Given the description of an element on the screen output the (x, y) to click on. 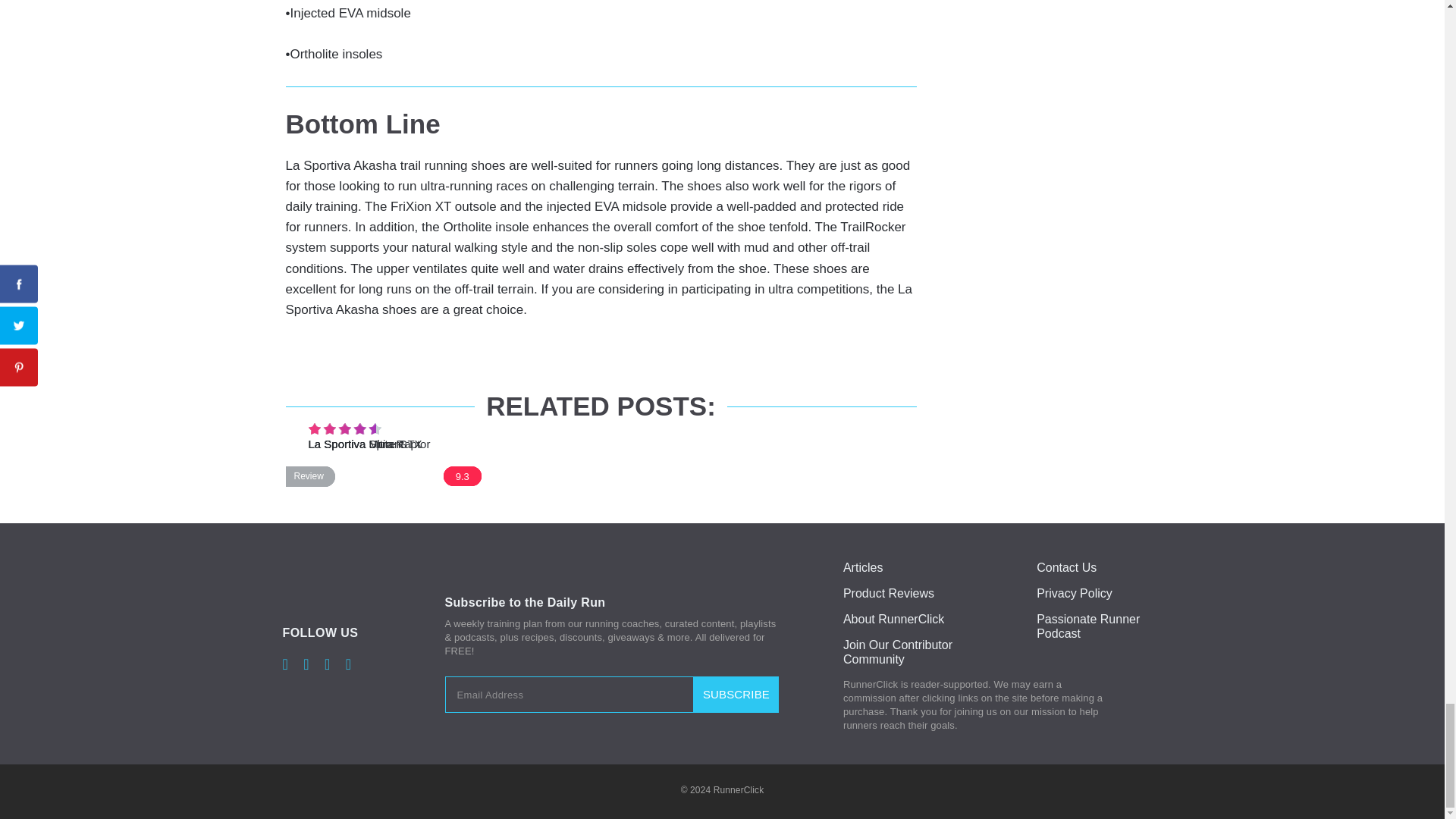
Rated 4.5 out of 5 (343, 428)
